Given the description of an element on the screen output the (x, y) to click on. 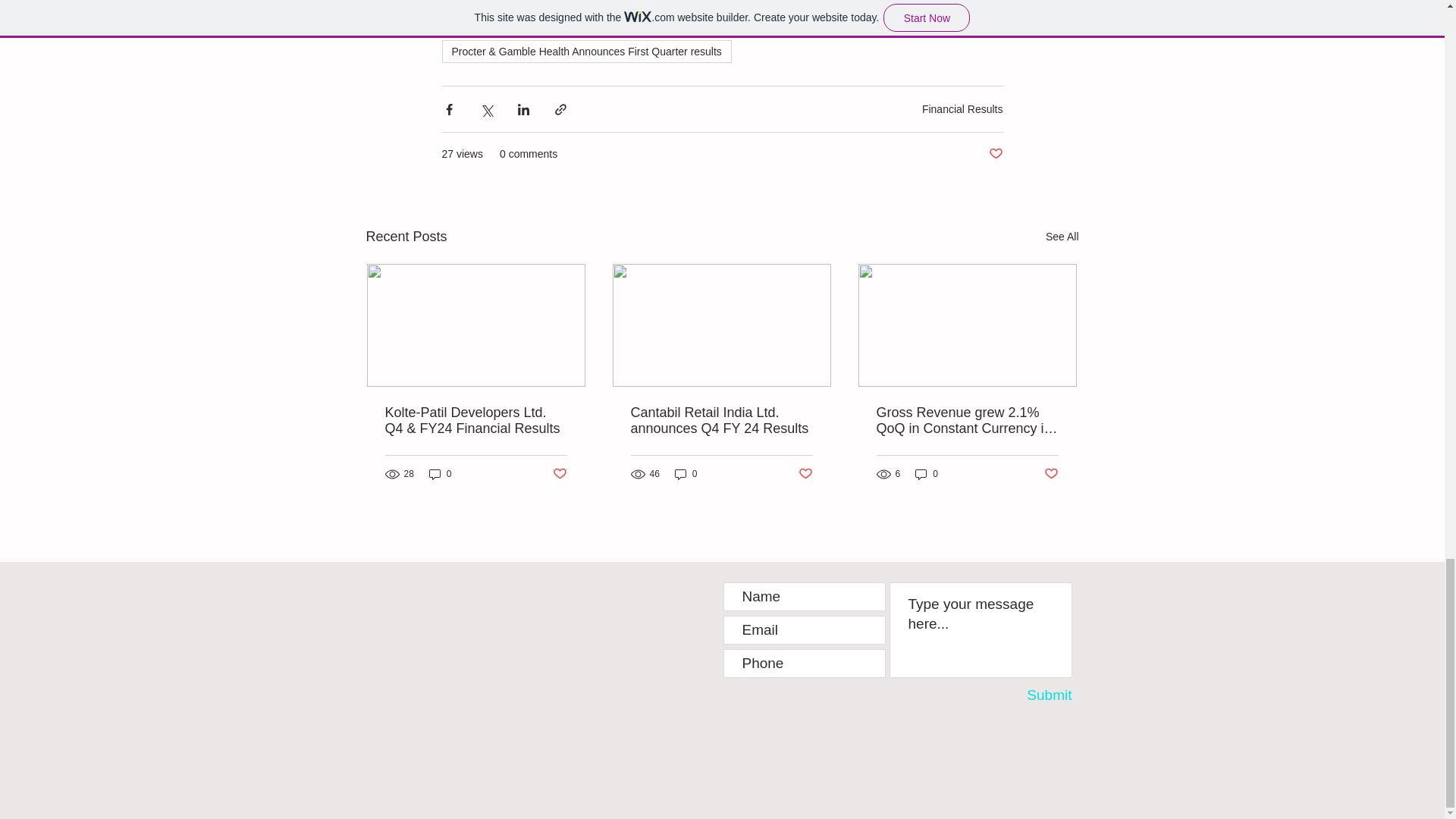
Cantabil Retail India Ltd. announces Q4 FY 24 Results (721, 420)
Post not marked as liked (995, 154)
Financial Results (962, 109)
Post not marked as liked (1050, 474)
0 (926, 473)
0 (685, 473)
Post not marked as liked (804, 474)
See All (1061, 237)
0 (440, 473)
Post not marked as liked (558, 474)
Submit (1029, 695)
